Given the description of an element on the screen output the (x, y) to click on. 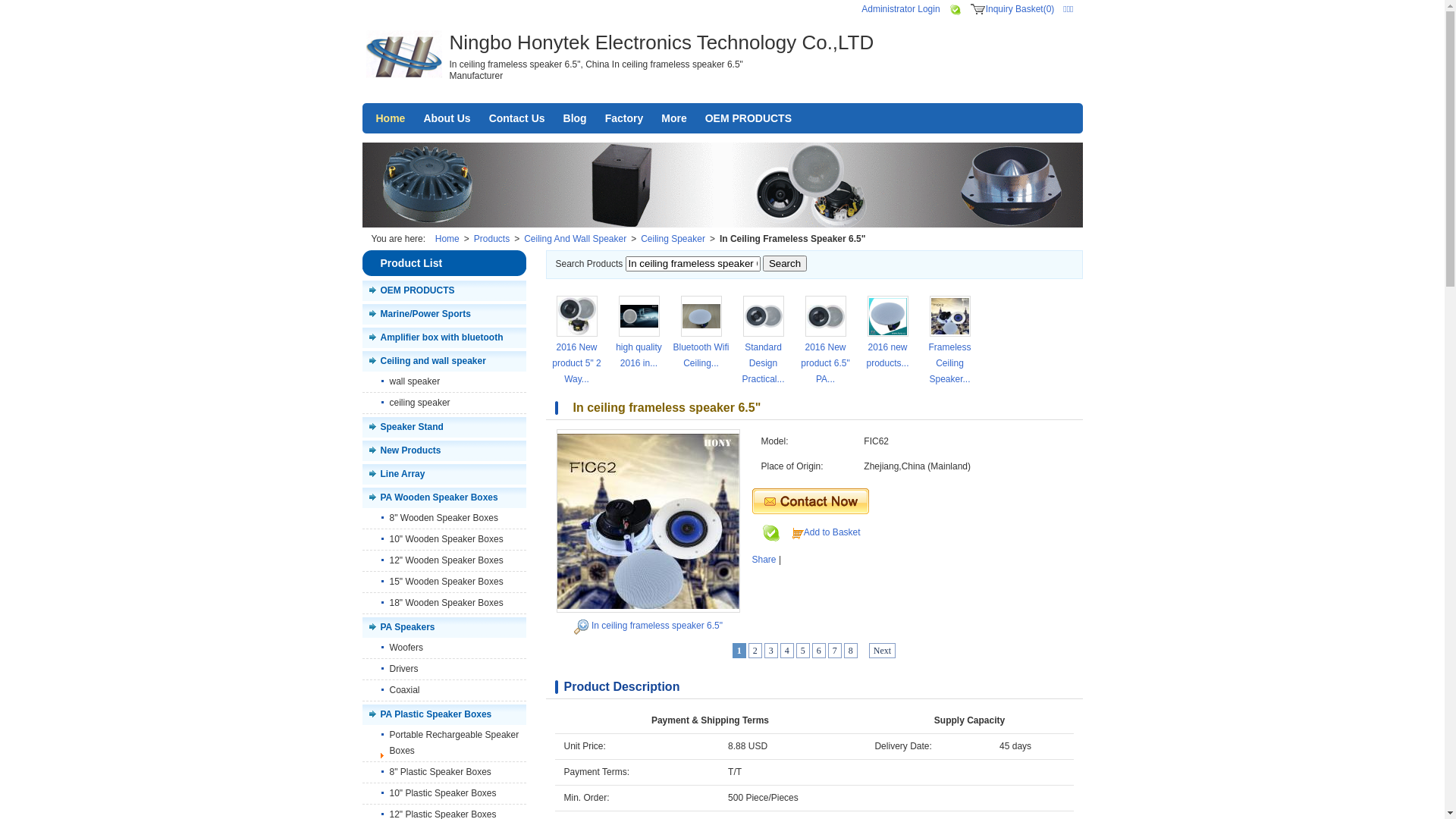
Next Element type: text (882, 650)
Ceiling Speaker Element type: text (672, 238)
Speaker Stand Element type: text (444, 427)
10" Plastic Speaker Boxes Element type: text (444, 793)
More Element type: text (673, 118)
7 Element type: text (834, 650)
In ceiling frameless speaker 6.5" Element type: text (656, 625)
2 Element type: text (755, 650)
Frameless Ceiling Speaker 6.5 inch Element type: hover (950, 316)
Add to Basket Element type: text (831, 532)
New Products Element type: text (444, 450)
6 Element type: text (818, 650)
8 Element type: text (850, 650)
Marine/Power Sports Element type: text (444, 314)
About Us Element type: text (446, 118)
China Line Array speakers Manufacturer Element type: hover (403, 56)
wall speaker Element type: text (444, 381)
2016 New product 5" 2 Way... Element type: text (576, 363)
Home Element type: text (447, 238)
Contact Us Element type: text (517, 118)
8" Wooden Speaker Boxes Element type: text (444, 518)
Line Array Element type: text (444, 474)
5 Element type: text (802, 650)
Coaxial Element type: text (444, 690)
10" Wooden Speaker Boxes Element type: text (444, 539)
18" Wooden Speaker Boxes Element type: text (444, 603)
Search Element type: text (784, 263)
3 Element type: text (771, 650)
Ceiling and wall speaker Element type: text (444, 361)
In ceiling frameless speaker 6.5" Element type: hover (647, 520)
Woofers Element type: text (444, 647)
Bluetooth Wifi Ceiling Speaker Waterproof for bathroom Element type: hover (701, 316)
Products Element type: text (491, 238)
ceiling speaker Element type: text (444, 403)
Frameless Ceiling Speaker... Element type: text (949, 363)
Ceiling And Wall Speaker Element type: text (575, 238)
8" Plastic Speaker Boxes Element type: text (444, 772)
PA Wooden Speaker Boxes Element type: text (444, 497)
2016 new products... Element type: text (887, 355)
PA Plastic Speaker Boxes Element type: text (444, 714)
high quality 2016 in... Element type: text (638, 355)
Inquiry Basket(0) Element type: text (1019, 8)
Factory Element type: text (624, 118)
4 Element type: text (786, 650)
2016 New product 6.5" PA... Element type: text (824, 363)
Portable Rechargeable Speaker Boxes Element type: text (444, 743)
15" Wooden Speaker Boxes Element type: text (444, 582)
Home Element type: text (390, 118)
PA Speakers Element type: text (444, 627)
OEM PRODUCTS Element type: text (444, 290)
2016 New product 5" 2 Way 10 OZ Magnet Ceiling Speaker Element type: hover (577, 316)
Drivers Element type: text (444, 669)
OEM PRODUCTS Element type: text (748, 118)
Share Element type: text (764, 559)
Blog Element type: text (575, 118)
Standard Design Practical... Element type: text (762, 363)
12" Wooden Speaker Boxes Element type: text (444, 560)
Amplifier box with bluetooth Element type: text (444, 337)
Administrator Login Element type: text (900, 8)
Bluetooth Wifi Ceiling... Element type: text (700, 355)
